Given the description of an element on the screen output the (x, y) to click on. 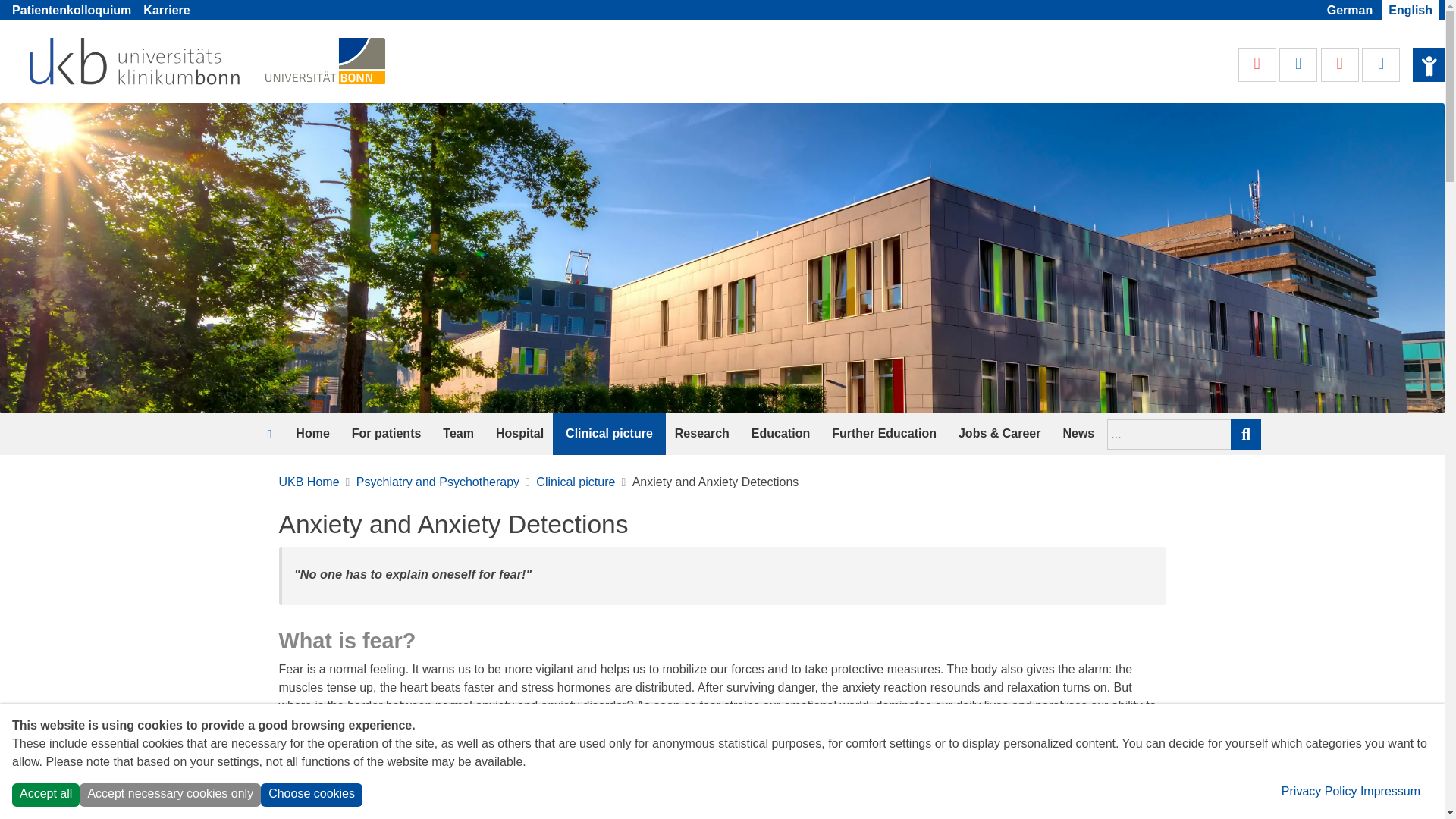
Privacy Policy (1318, 790)
Home (312, 434)
English (1409, 10)
Wegweiser (1299, 63)
Kontakt (1380, 63)
Team (457, 434)
Blutspende (1340, 63)
Hospital (519, 434)
For patients (386, 434)
Karriere (165, 10)
Hilfe im Notfall (1259, 63)
English (1409, 10)
Patientenkolloquium (70, 10)
Impressum (1390, 790)
German (1349, 10)
